Given the description of an element on the screen output the (x, y) to click on. 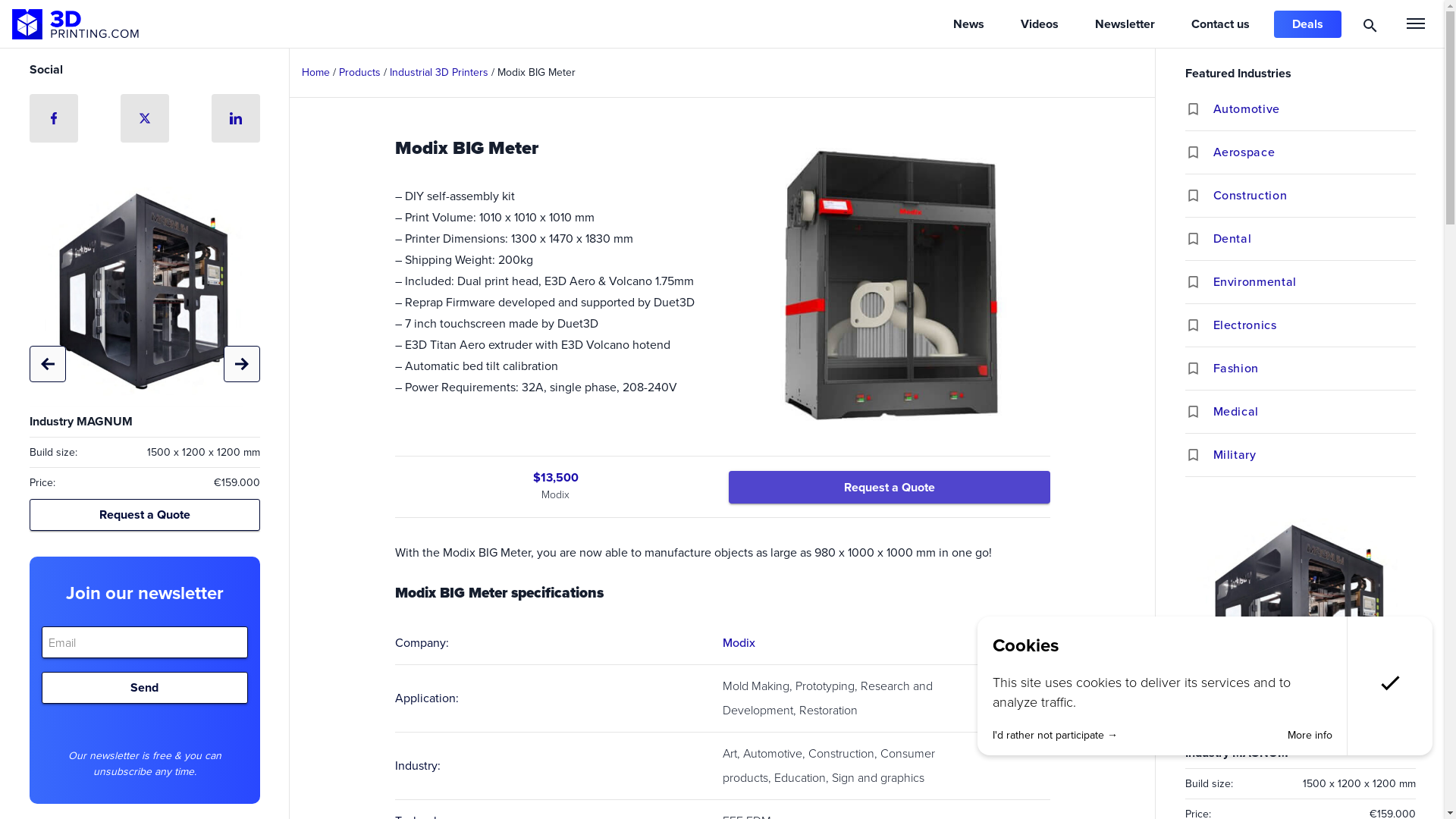
Videos Element type: text (1039, 23)
3D Printing Element type: hover (75, 24)
Fashion Element type: text (1314, 368)
Dental Element type: text (1314, 238)
News Element type: text (968, 23)
Automotive Element type: text (1314, 109)
More info Element type: text (1309, 735)
Products Element type: text (359, 72)
Environmental Element type: text (1314, 281)
Modix Element type: text (737, 642)
Newsletter Element type: text (1124, 23)
Deals Element type: text (1307, 23)
$13,500 Element type: text (554, 477)
Request a Quote Element type: text (888, 486)
Industrial 3D Printers Element type: text (438, 72)
Military Element type: text (1314, 454)
Aerospace Element type: text (1314, 152)
Construction Element type: text (1314, 195)
Home Element type: text (315, 72)
Electronics Element type: text (1314, 325)
Contact us Element type: text (1220, 23)
Send Element type: text (143, 687)
Request a Quote Element type: text (143, 514)
Medical Element type: text (1314, 411)
